Given the description of an element on the screen output the (x, y) to click on. 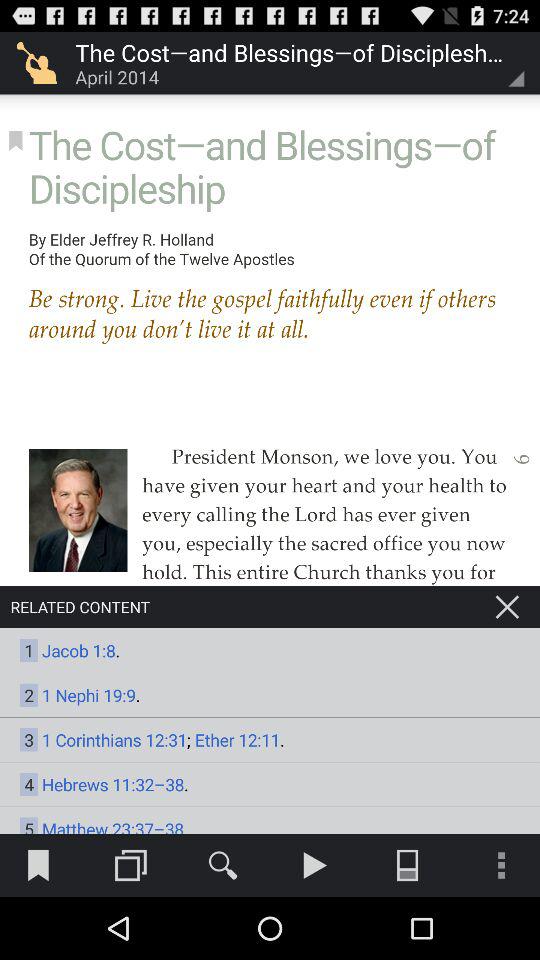
close the tab (507, 607)
